Given the description of an element on the screen output the (x, y) to click on. 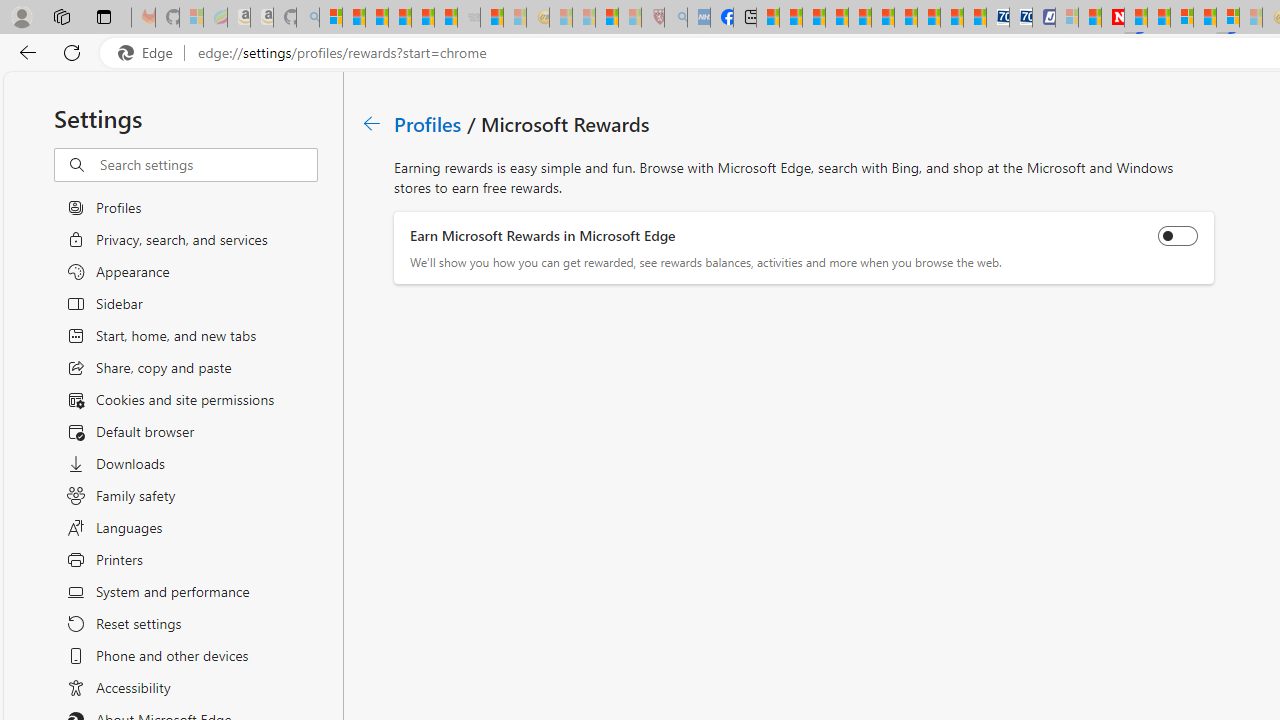
Cheap Car Rentals - Save70.com (997, 17)
12 Popular Science Lies that Must be Corrected - Sleeping (630, 17)
World - MSN (813, 17)
New Report Confirms 2023 Was Record Hot | Watch (422, 17)
Go back to Profiles page. (372, 123)
